Given the description of an element on the screen output the (x, y) to click on. 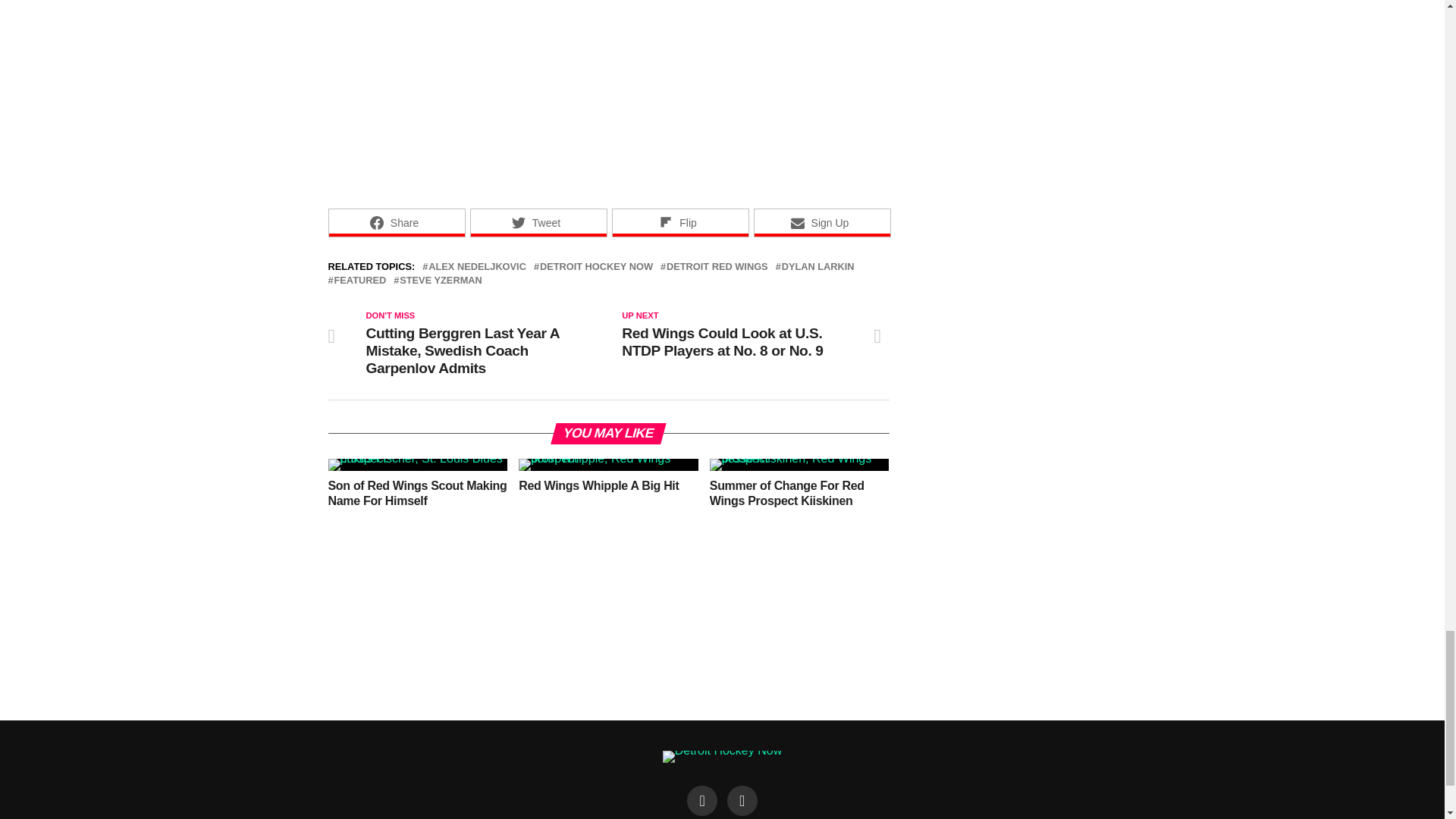
Share on Flip (679, 222)
Share on Tweet (538, 222)
Share on Share (395, 222)
Share on Sign Up (822, 222)
